Given the description of an element on the screen output the (x, y) to click on. 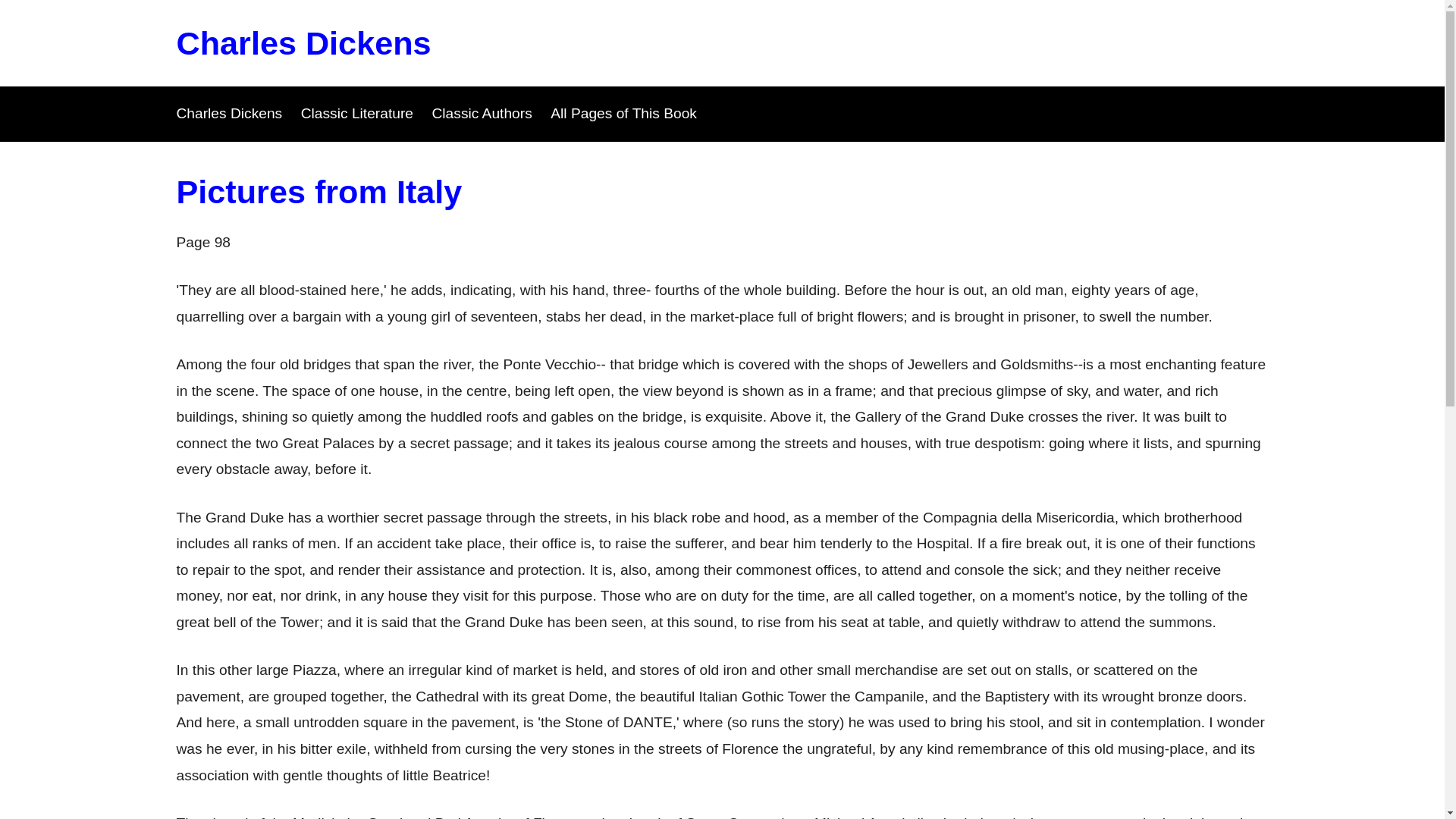
All Pages of This Book (623, 113)
Classic Authors (482, 113)
Classic Literature (357, 113)
Charles Dickens (229, 113)
Charles Dickens (303, 43)
Pictures from Italy (318, 191)
